Given the description of an element on the screen output the (x, y) to click on. 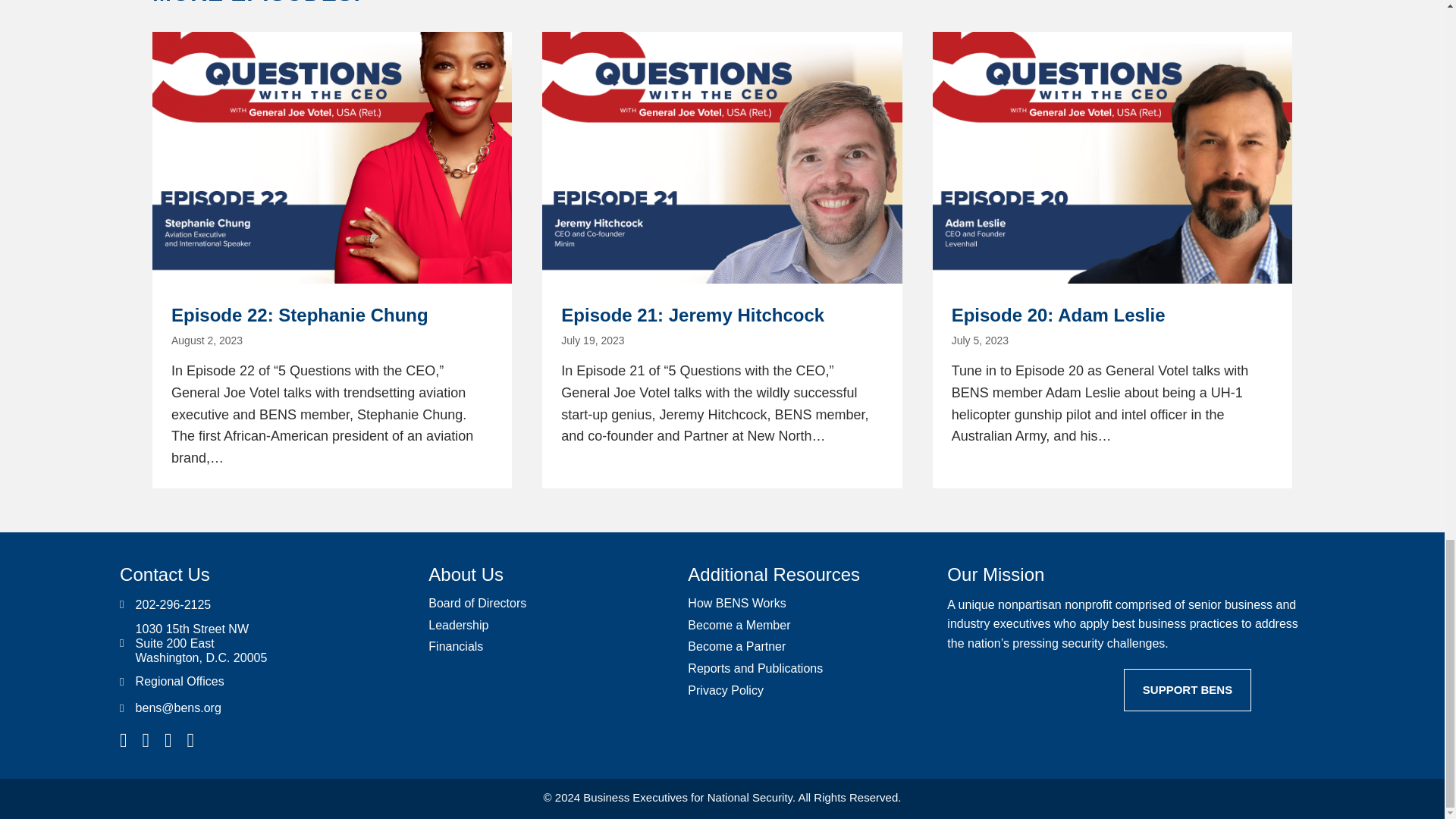
Contact Us (164, 574)
Five Questions With The CEO Adam Leslie Instagram Post V1 (1112, 157)
